Given the description of an element on the screen output the (x, y) to click on. 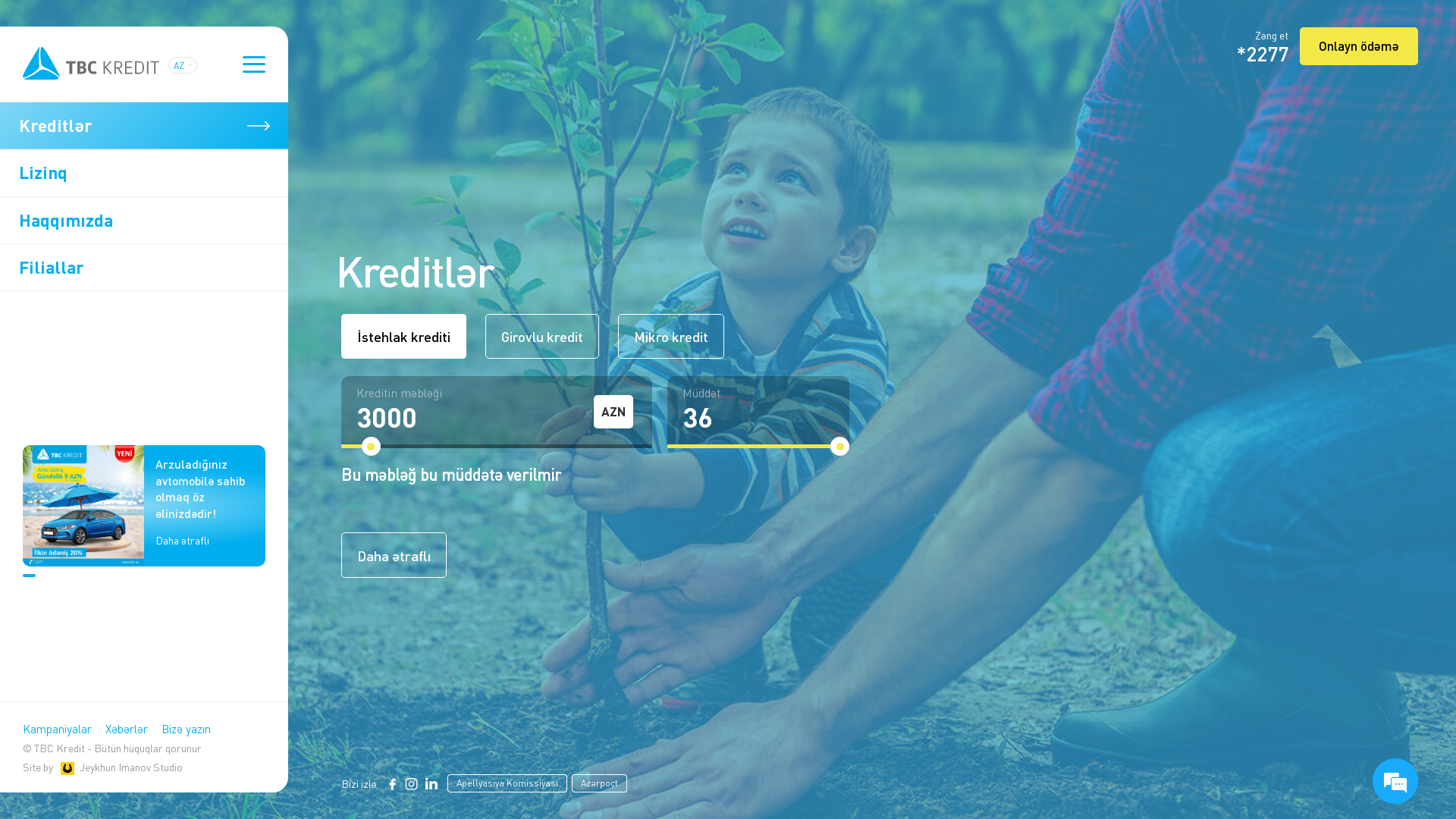
Mikro kredit Element type: text (671, 335)
Site by Jeykhun Imanov Studio Element type: text (102, 766)
Filiallar Element type: text (144, 267)
Kampaniyalar Element type: text (56, 728)
AZN Element type: text (613, 411)
Girovlu kredit Element type: text (542, 335)
Lizinq Element type: text (144, 172)
AZ Element type: text (182, 64)
